Given the description of an element on the screen output the (x, y) to click on. 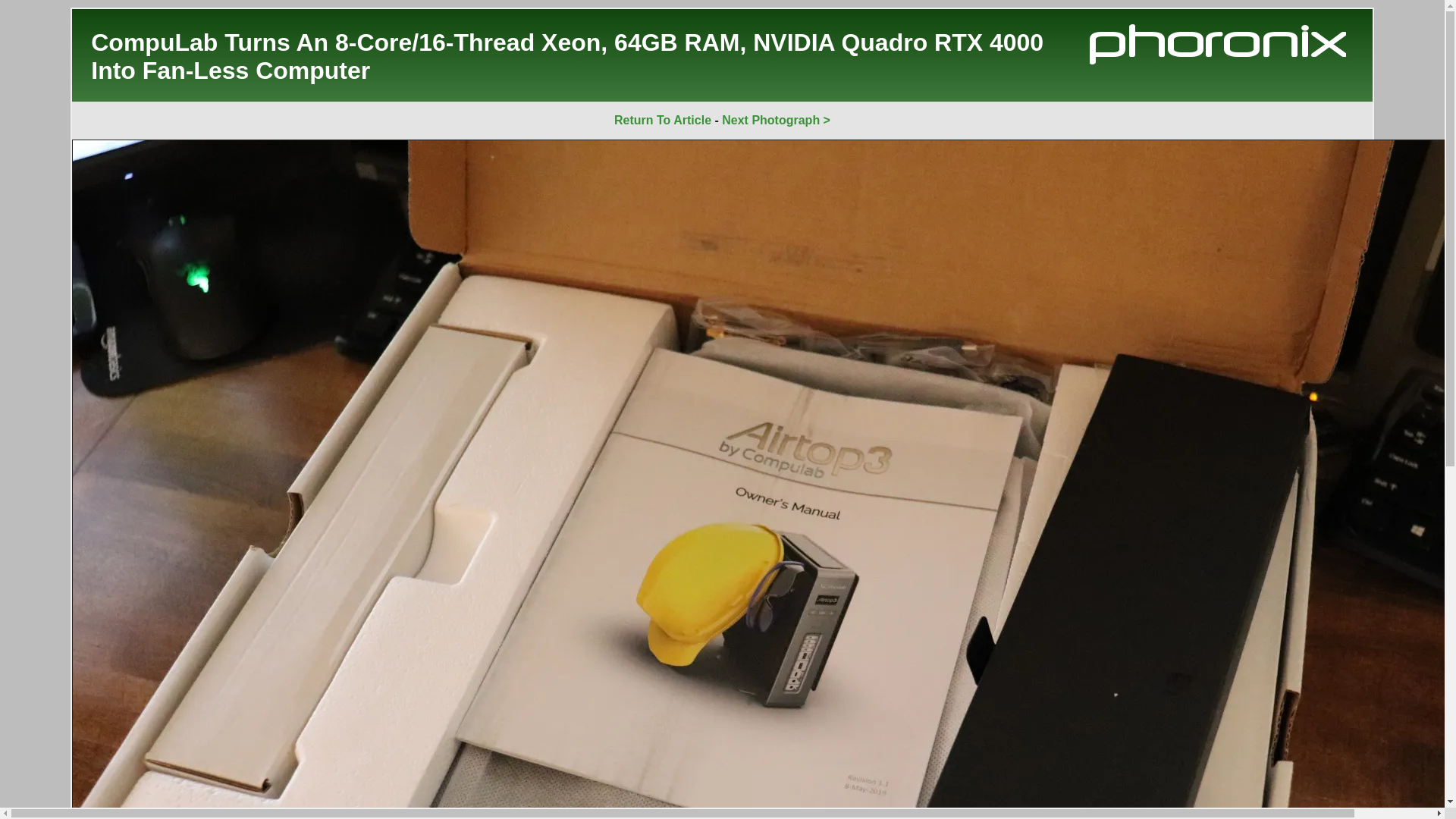
Return To Article (662, 119)
